Given the description of an element on the screen output the (x, y) to click on. 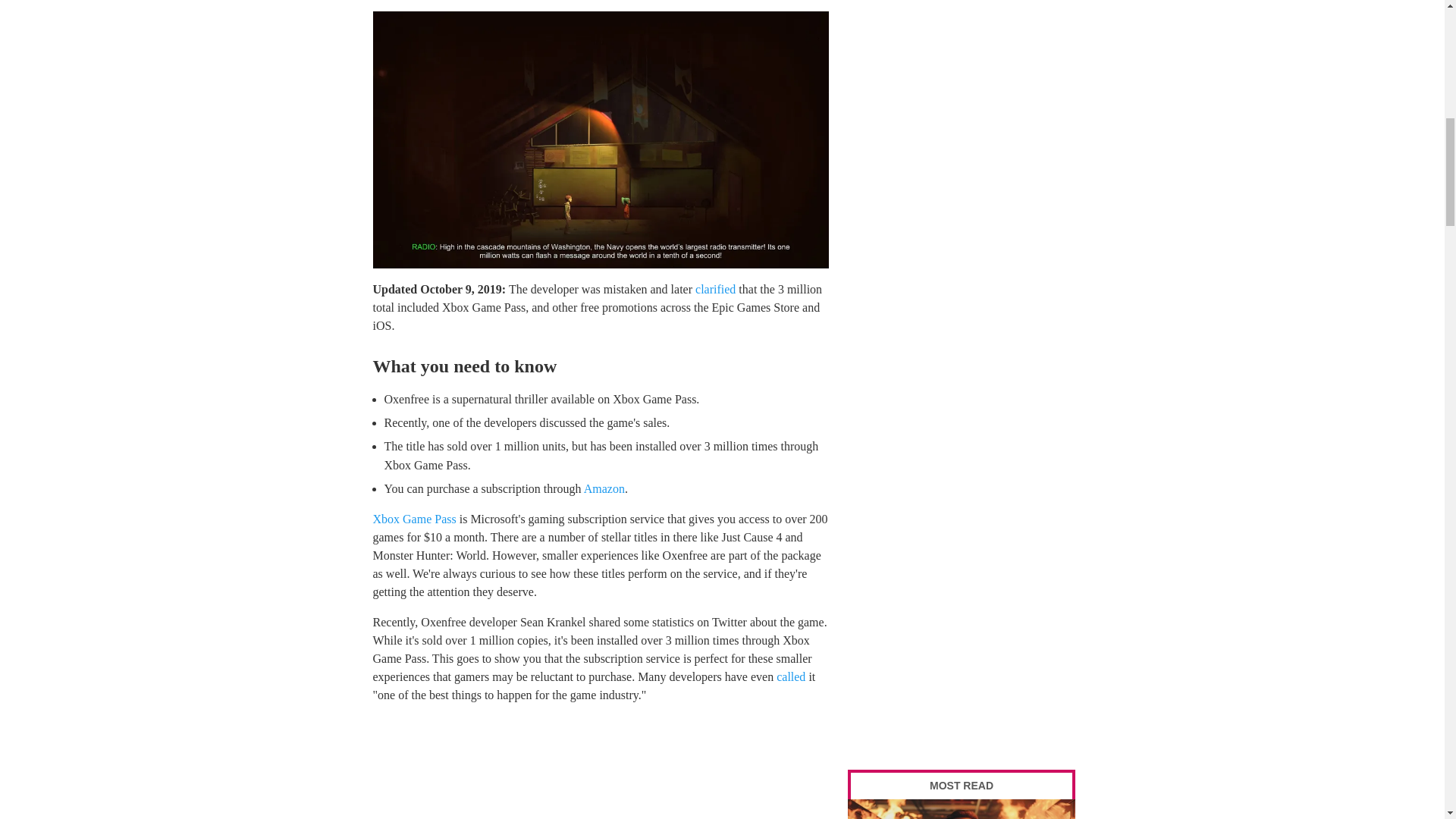
called (790, 676)
Xbox Game Pass (414, 518)
clarified (715, 288)
Amazon (603, 488)
